Given the description of an element on the screen output the (x, y) to click on. 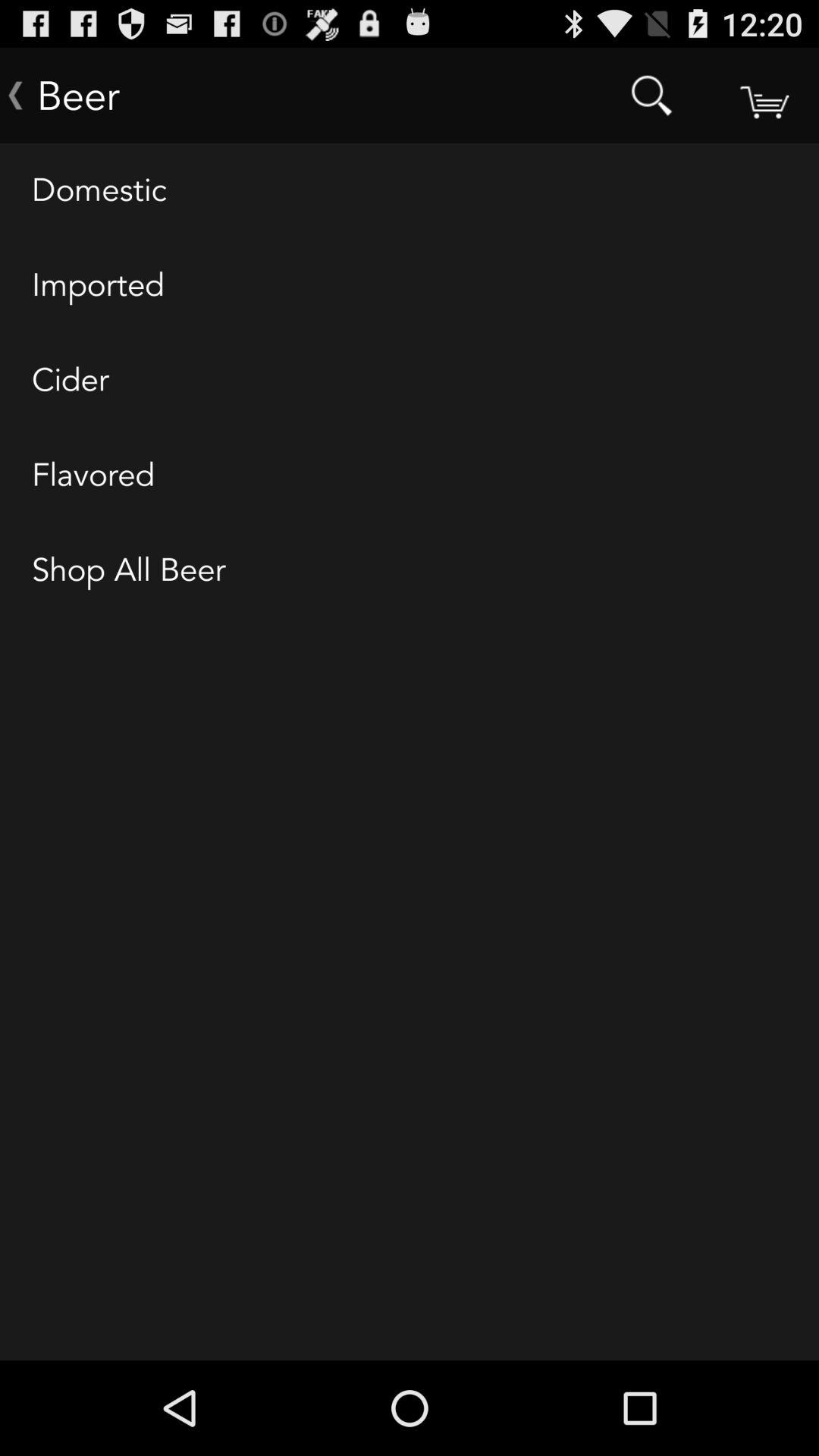
turn off flavored item (409, 475)
